Given the description of an element on the screen output the (x, y) to click on. 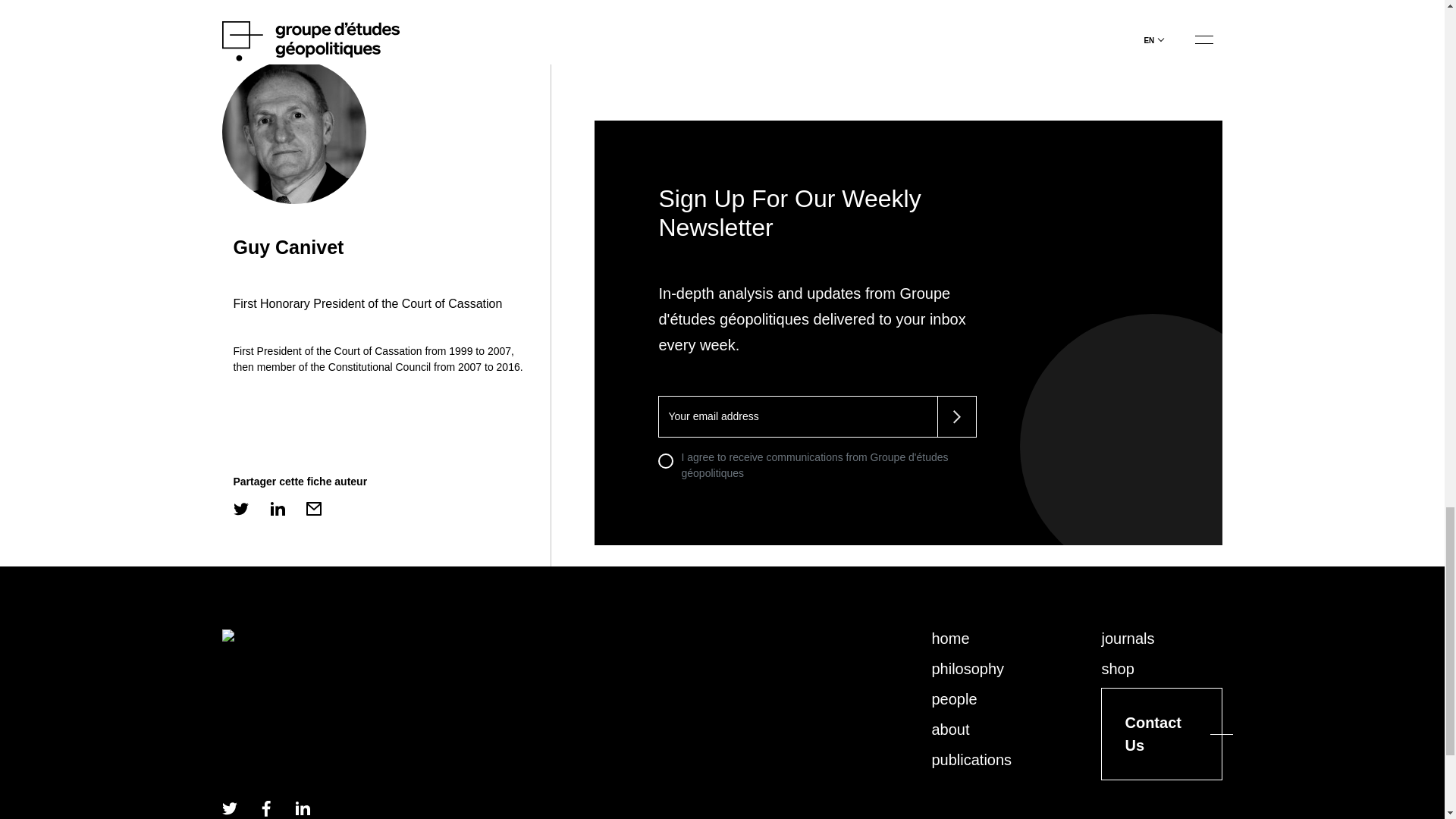
on (665, 460)
Linkedin (301, 807)
Twitter (228, 807)
